Given the description of an element on the screen output the (x, y) to click on. 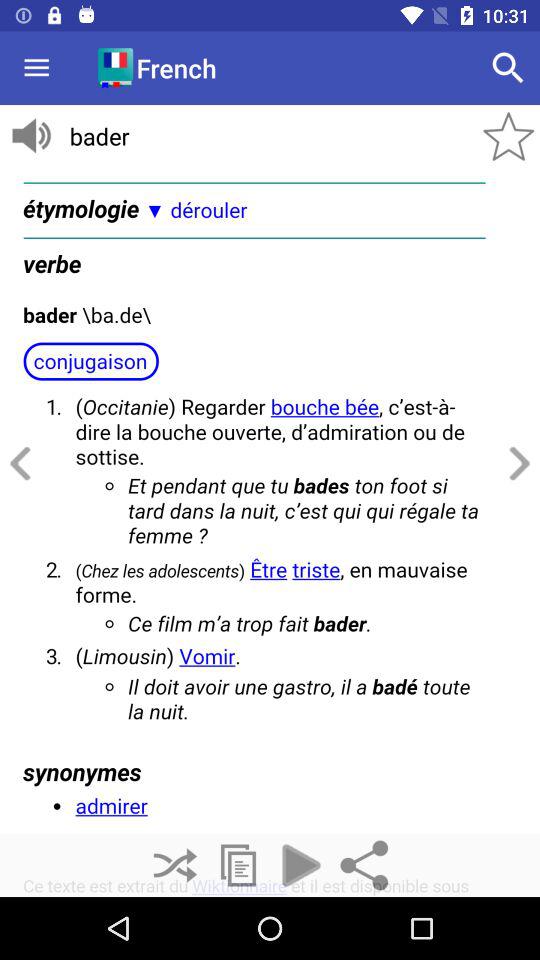
advertisement page (270, 532)
